Given the description of an element on the screen output the (x, y) to click on. 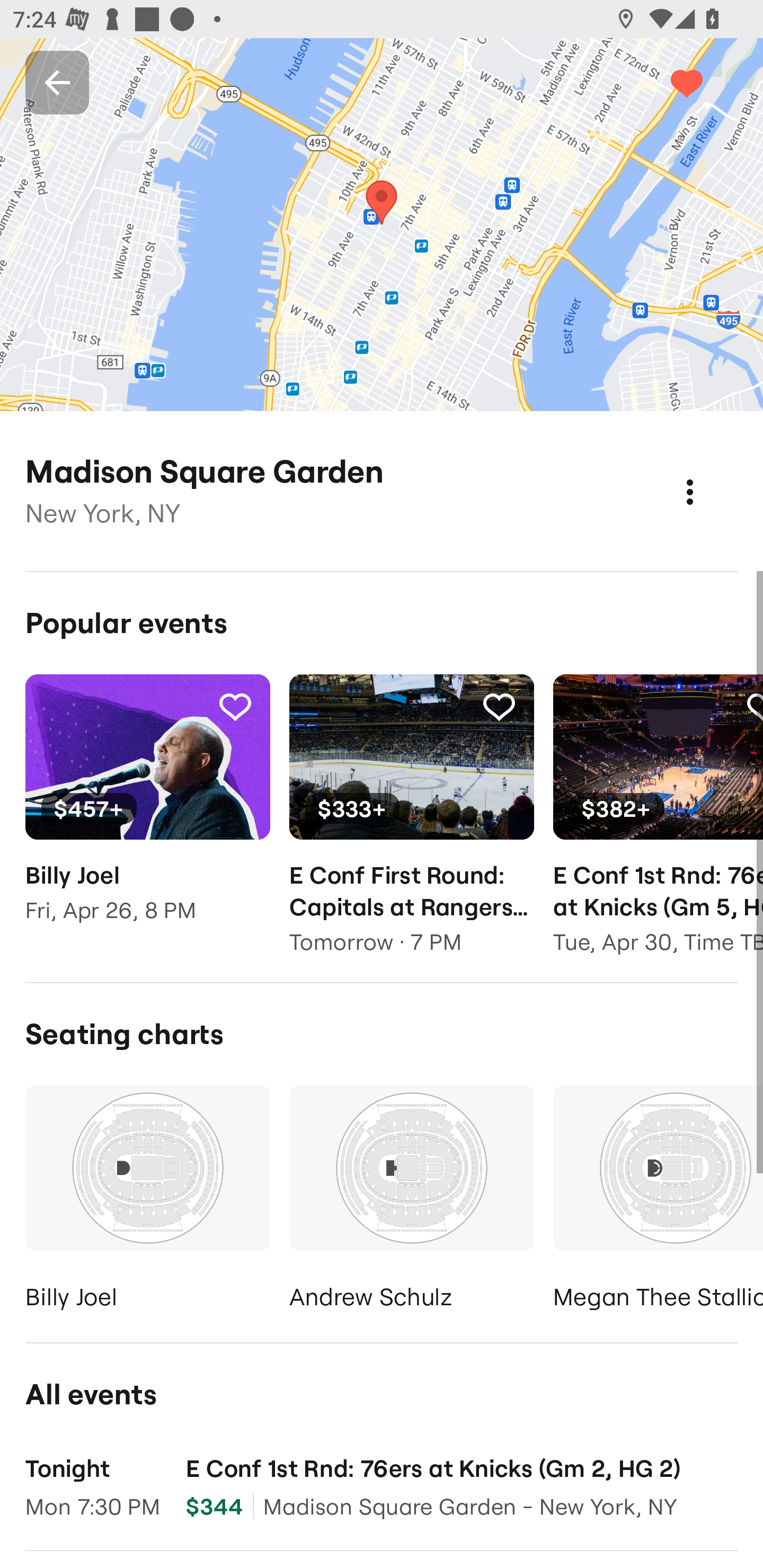
Back (57, 81)
Tracking (705, 81)
See more options (708, 472)
Tracking $457+ Billy Joel Fri, Apr 26, 8 PM (147, 811)
Tracking (234, 705)
Tracking (498, 705)
Billy Joel (147, 1201)
Andrew Schulz (411, 1201)
Megan Thee Stallion with GloRilla (658, 1201)
